Given the description of an element on the screen output the (x, y) to click on. 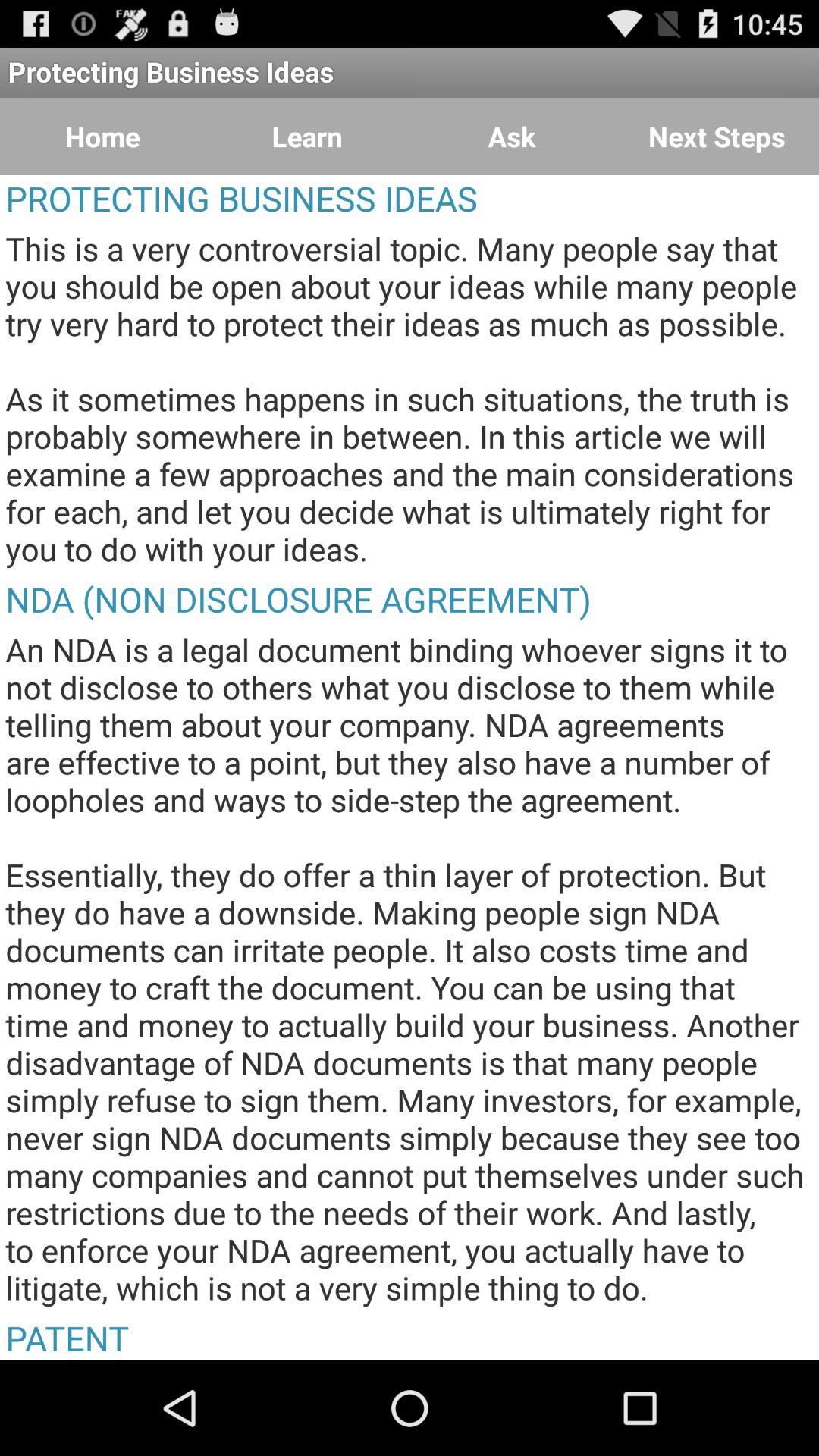
turn off the icon next to ask button (716, 136)
